Given the description of an element on the screen output the (x, y) to click on. 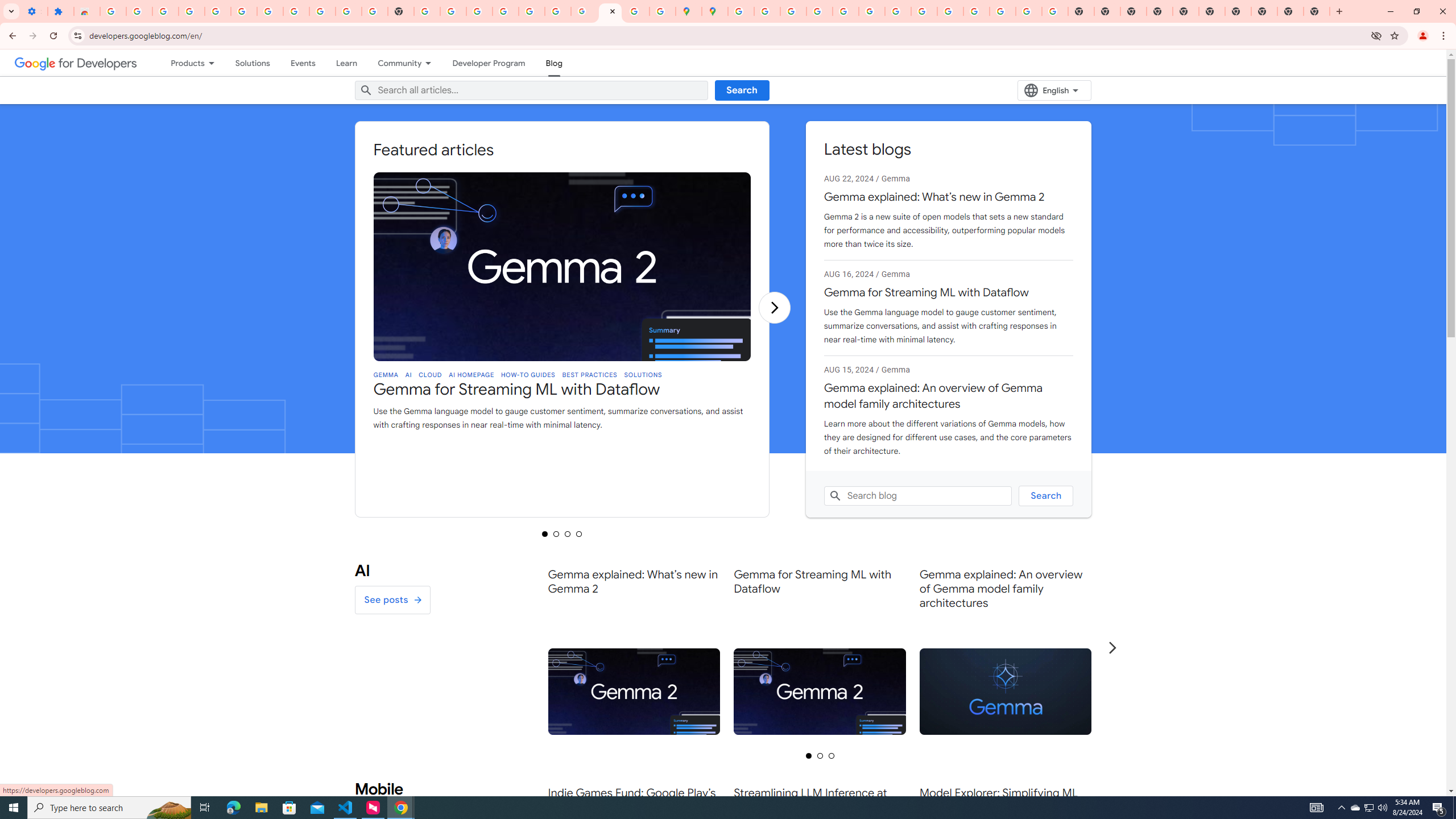
Blog (554, 62)
Learn how to find your photos - Google Photos Help (217, 11)
Hero Section Background Grid Image (142, 407)
Developer Program (488, 62)
YouTube (897, 11)
